Given the description of an element on the screen output the (x, y) to click on. 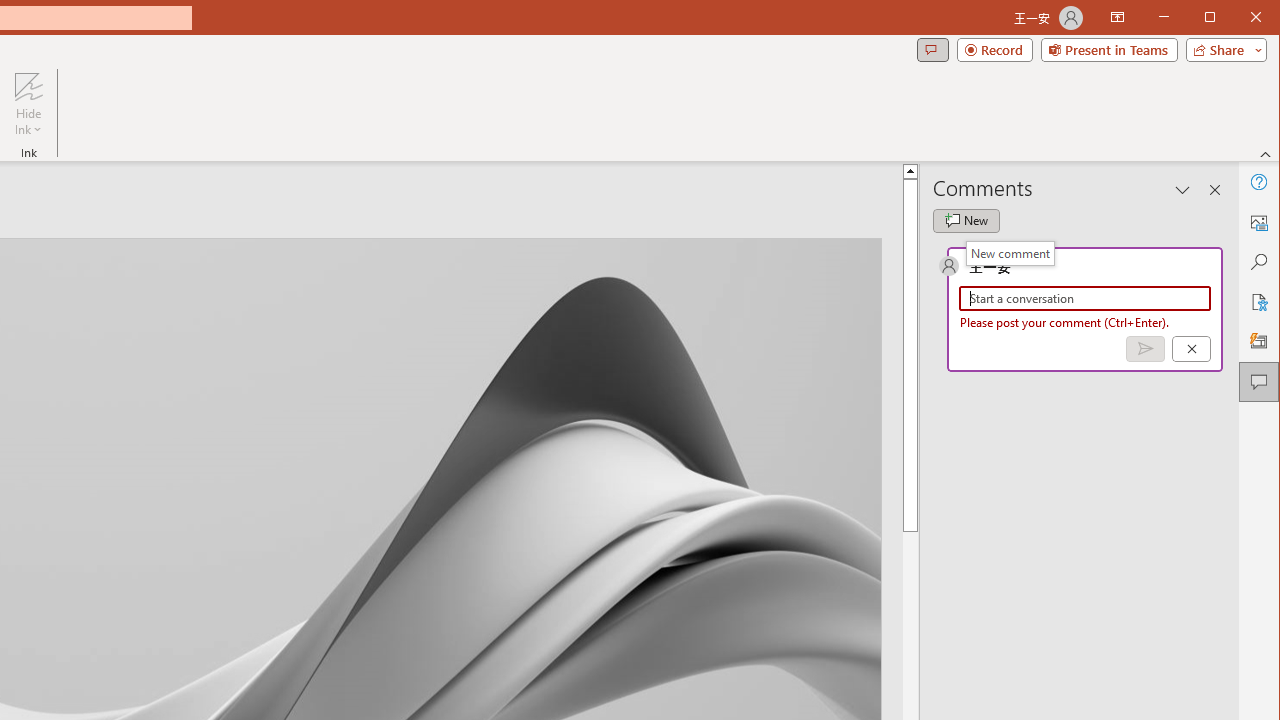
Alt Text (1258, 221)
Collapse the Ribbon (1266, 154)
Designer (1258, 341)
Close (1261, 18)
Start a conversation (1085, 298)
New comment (1010, 253)
Task Pane Options (1183, 189)
Ribbon Display Options (1117, 17)
More Options (28, 123)
New comment (966, 220)
Hide Ink (28, 104)
Hide Ink (28, 86)
Line up (1229, 170)
Maximize (1238, 18)
